Given the description of an element on the screen output the (x, y) to click on. 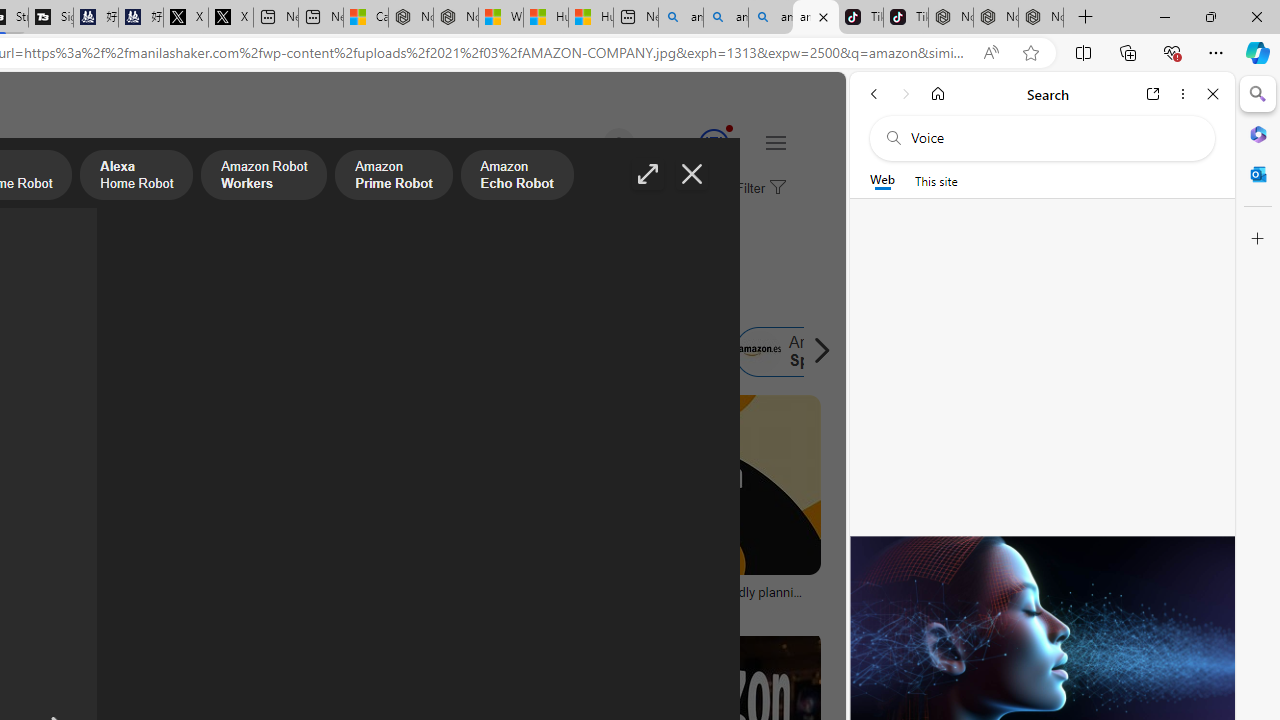
Amazon Shoes (659, 351)
Amazon.com.au (270, 351)
Class: medal-circled (713, 143)
Amazon Echo Robot (516, 177)
Scroll right (816, 351)
Amazon Shoes (618, 351)
Amazon Prime Membership (128, 351)
Image result for amazon (685, 485)
downdetector.ae (249, 605)
Web scope (882, 180)
